Given the description of an element on the screen output the (x, y) to click on. 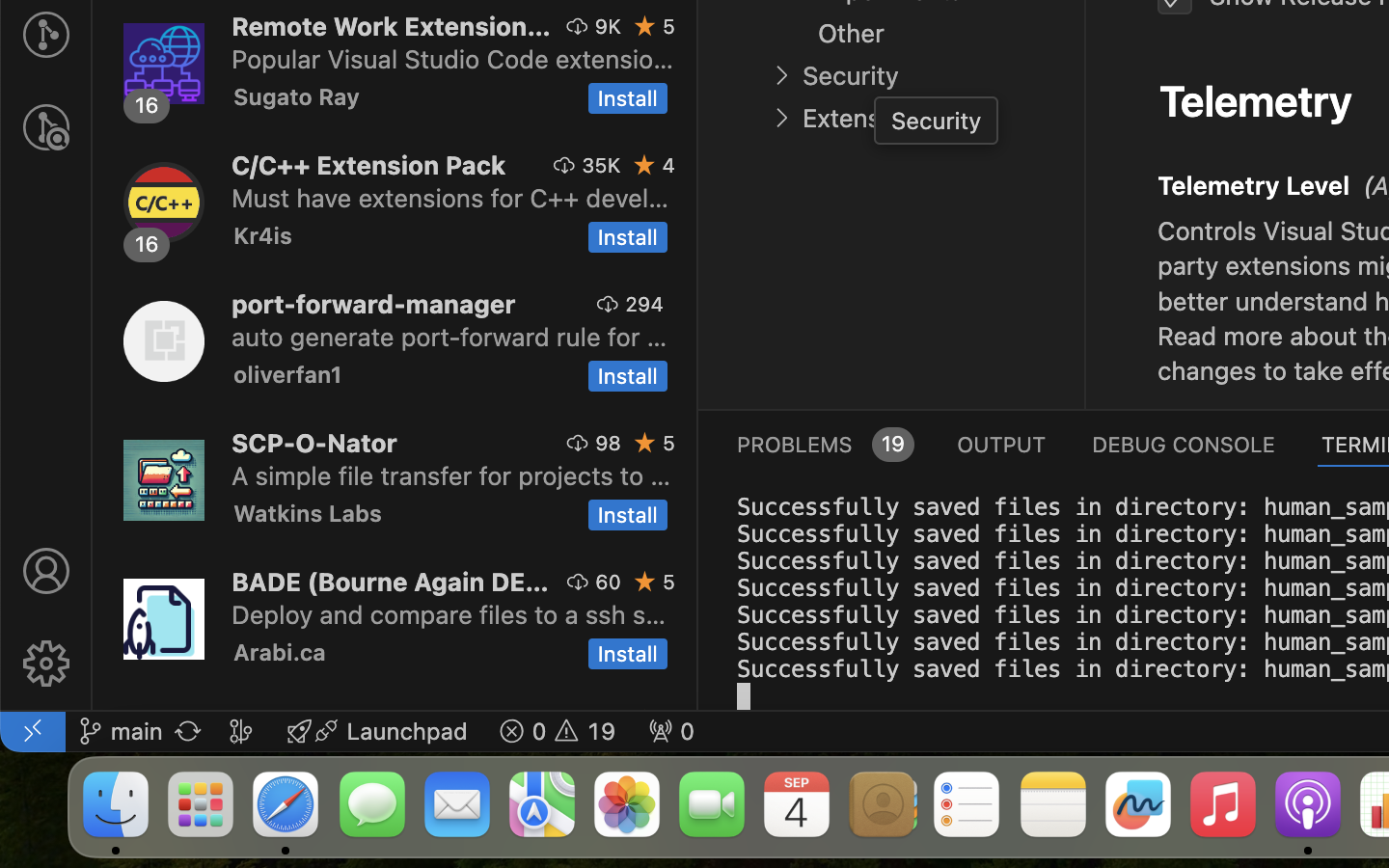
0 DEBUG CONSOLE Element type: AXRadioButton (1183, 443)
auto generate port-forward rule for your vscode ssh connection. Element type: AXStaticText (449, 336)
 Element type: AXGroup (46, 663)
 Element type: AXStaticText (644, 164)
 0 Element type: AXButton (671, 730)
